Given the description of an element on the screen output the (x, y) to click on. 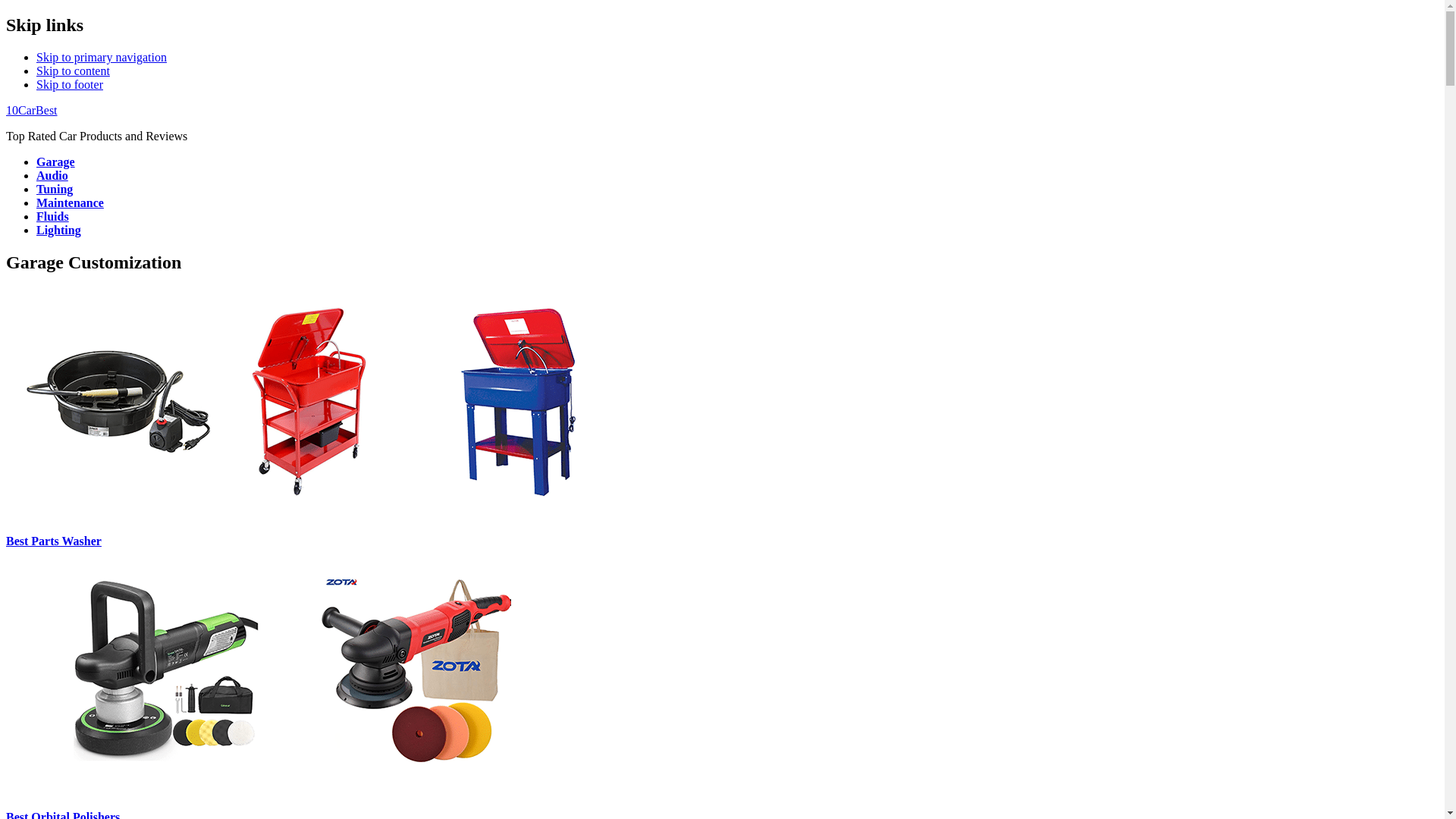
Skip to primary navigation Element type: text (101, 56)
Lighting Element type: text (58, 229)
Skip to content Element type: text (72, 70)
Best Parts Washer Element type: text (53, 540)
Skip to footer Element type: text (69, 84)
Garage Element type: text (55, 161)
Tuning Element type: text (54, 188)
Fluids Element type: text (52, 216)
10CarBest Element type: text (31, 109)
Audio Element type: text (52, 175)
Maintenance Element type: text (69, 202)
